Given the description of an element on the screen output the (x, y) to click on. 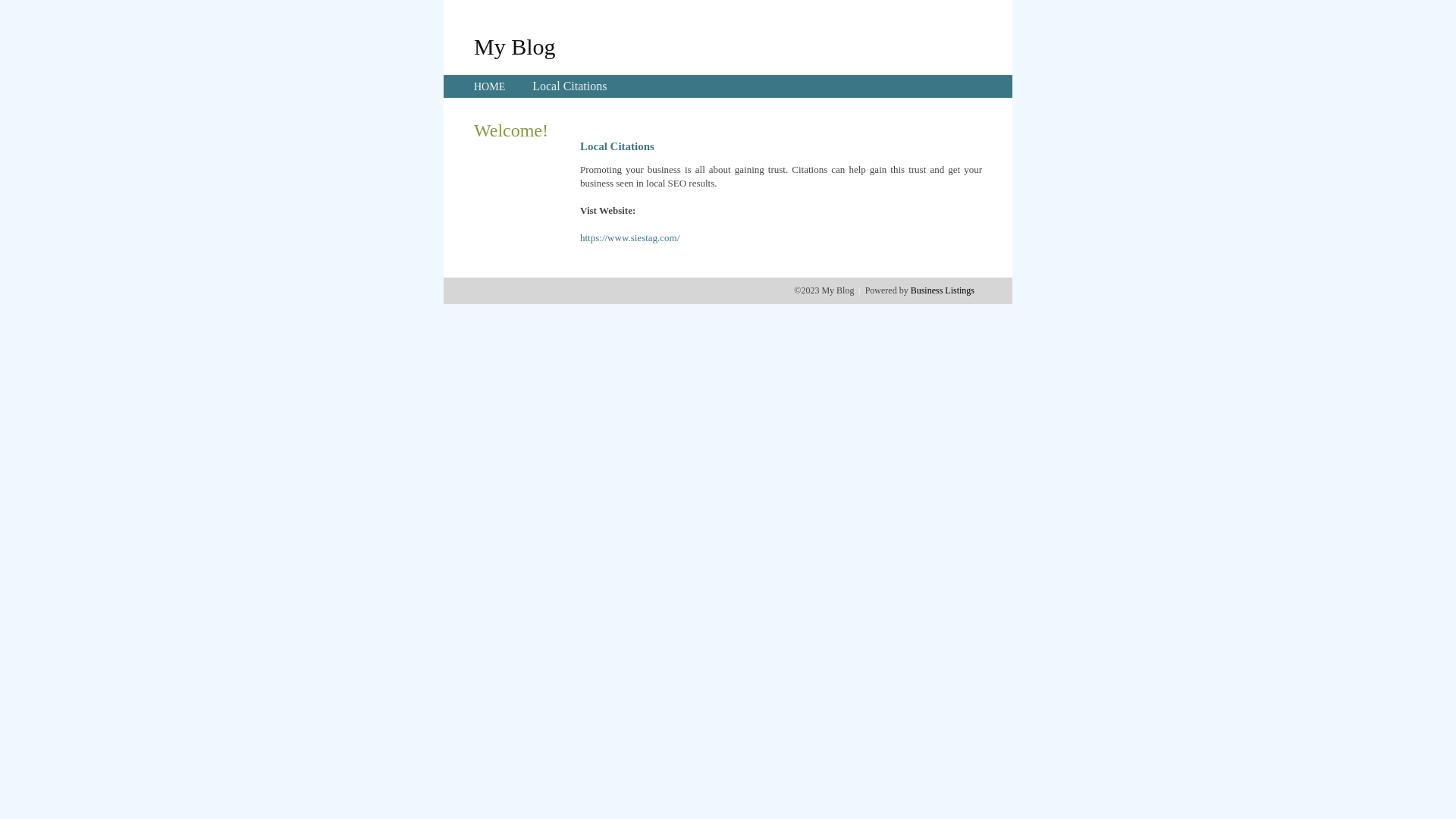
My Blog Element type: text (514, 46)
HOME Element type: text (489, 86)
https://www.siestag.com/ Element type: text (629, 237)
Local Citations Element type: text (569, 85)
Business Listings Element type: text (942, 290)
